Given the description of an element on the screen output the (x, y) to click on. 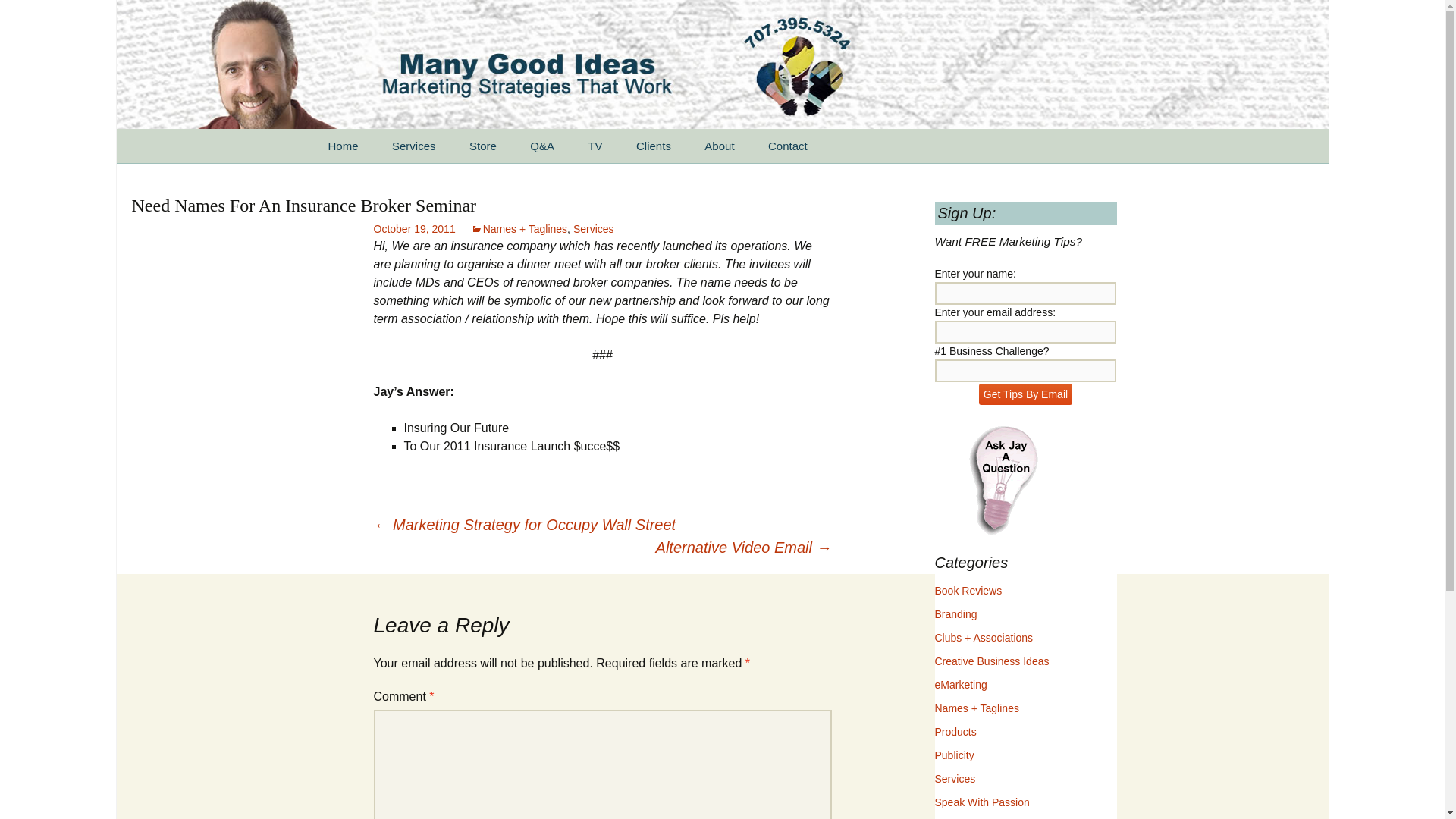
About (718, 145)
Publicity (954, 755)
Clients (653, 145)
Speak With Passion (981, 802)
Services (414, 145)
Services (593, 228)
Home (342, 145)
Permalink to Need Names For An Insurance Broker Seminar (413, 228)
Get Tips By Email (1024, 394)
October 19, 2011 (413, 228)
Products (954, 731)
eMarketing (960, 684)
Book Reviews (967, 590)
